Given the description of an element on the screen output the (x, y) to click on. 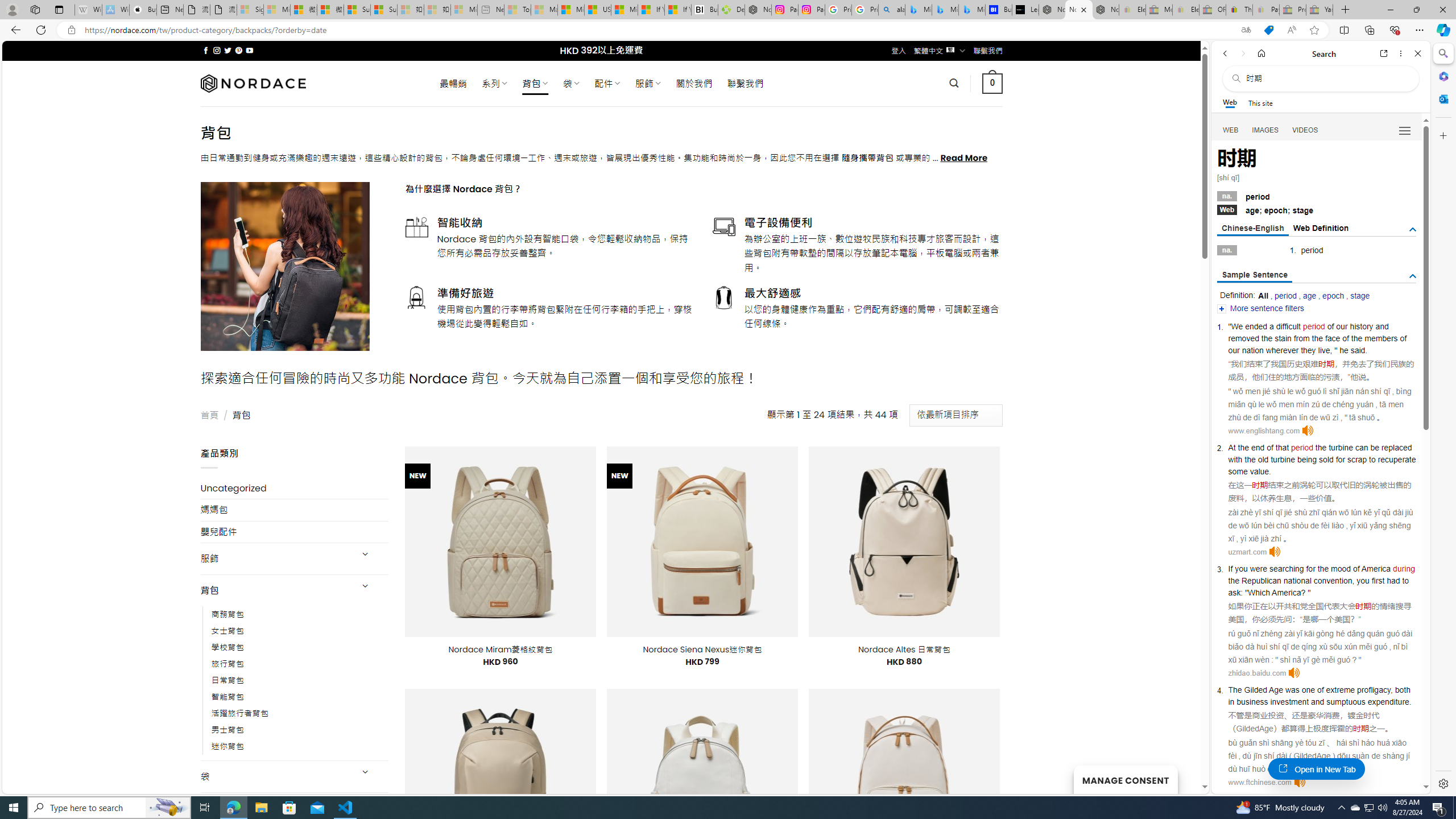
convention (1332, 580)
MANAGE CONSENT (1125, 779)
was (1292, 689)
history (1361, 325)
. (1410, 700)
Marine life - MSN - Sleeping (543, 9)
zhidao.baidu.com (1257, 673)
US Heat Deaths Soared To Record High Last Year (597, 9)
business (1252, 700)
